Given the description of an element on the screen output the (x, y) to click on. 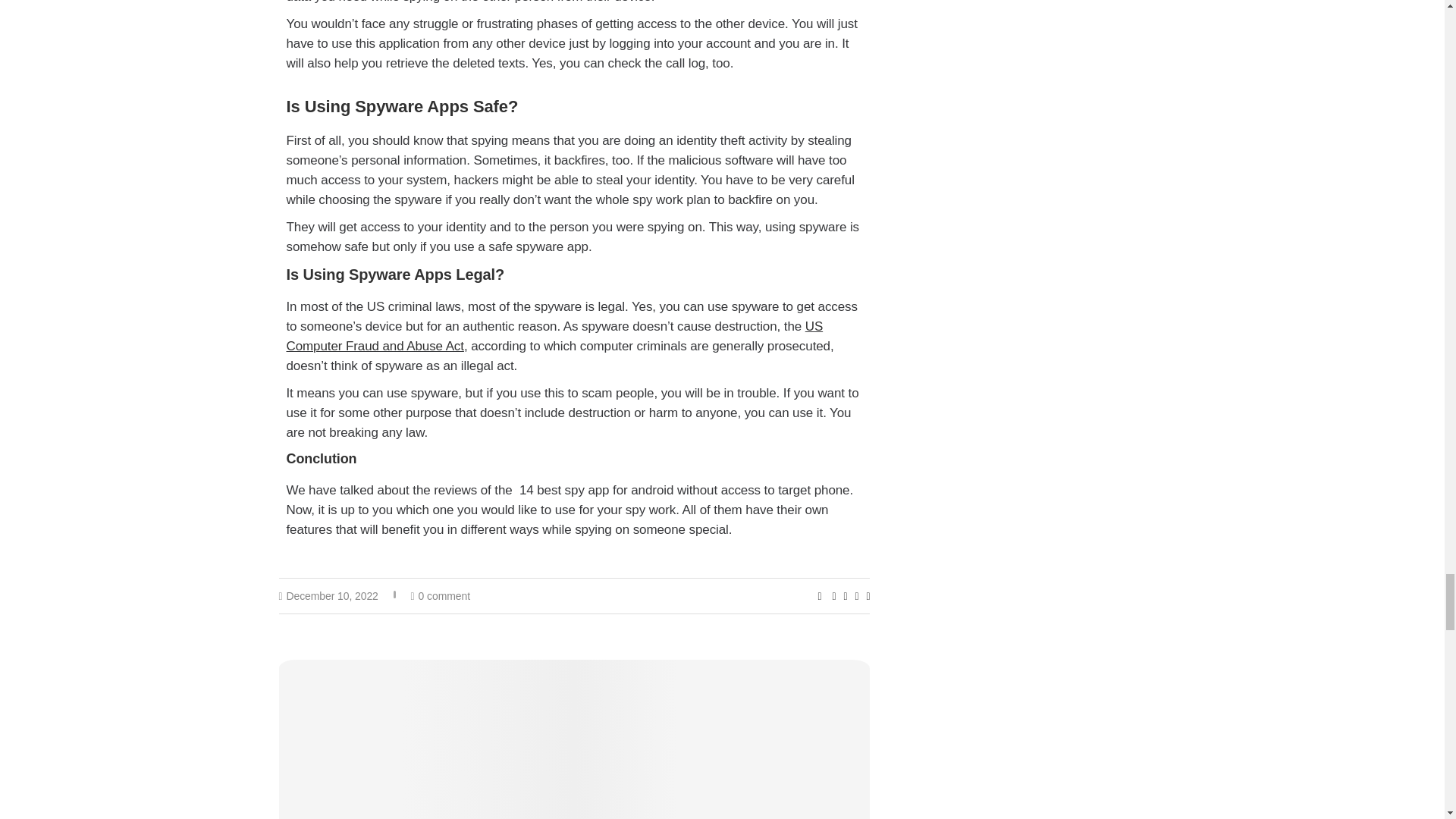
how to detect spyware on android phone (574, 739)
US Computer Fraud and Abuse Act (555, 335)
